Given the description of an element on the screen output the (x, y) to click on. 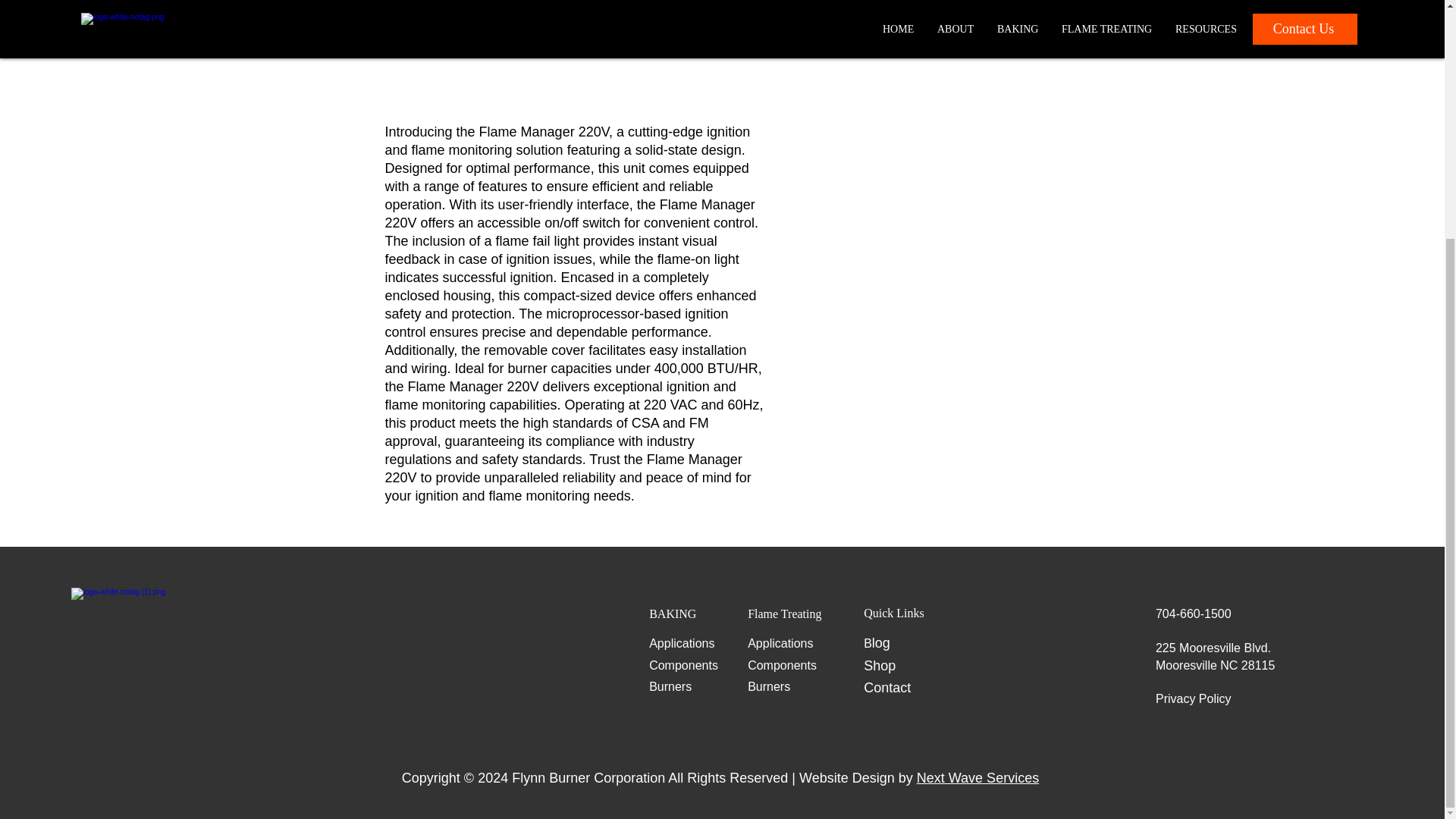
Next Wave Services (978, 777)
Applications (780, 643)
Burners (670, 686)
Burners (769, 686)
Applications (681, 643)
Privacy Policy (1193, 698)
Shop (879, 666)
Blog (876, 643)
Contact  (888, 687)
Components (782, 665)
Components (683, 665)
